Given the description of an element on the screen output the (x, y) to click on. 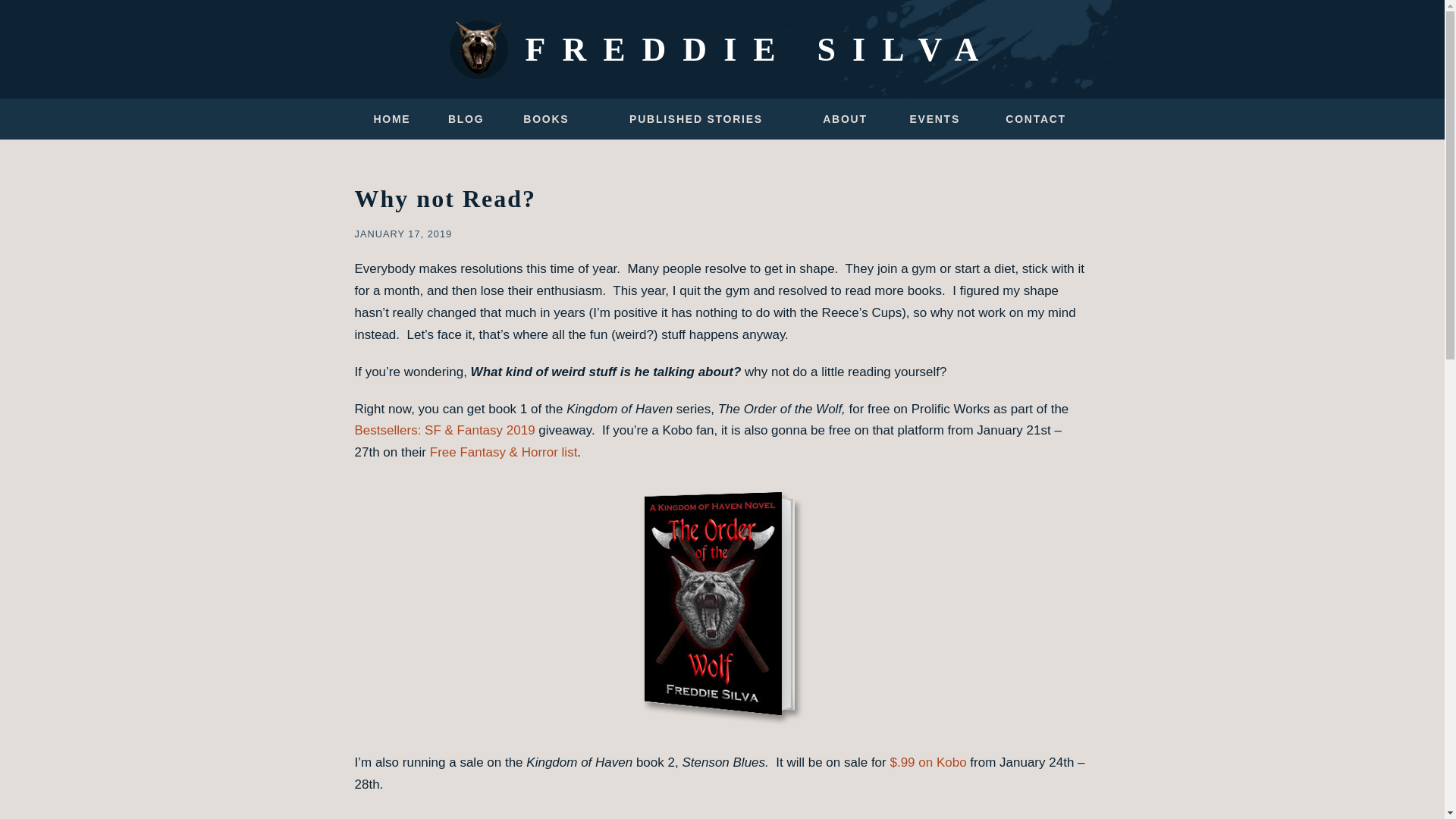
ABOUT (844, 119)
BOOKS (545, 119)
PUBLISHED STORIES (695, 119)
HOME (391, 119)
BLOG (465, 119)
CONTACT (1035, 119)
EVENTS (933, 119)
